Given the description of an element on the screen output the (x, y) to click on. 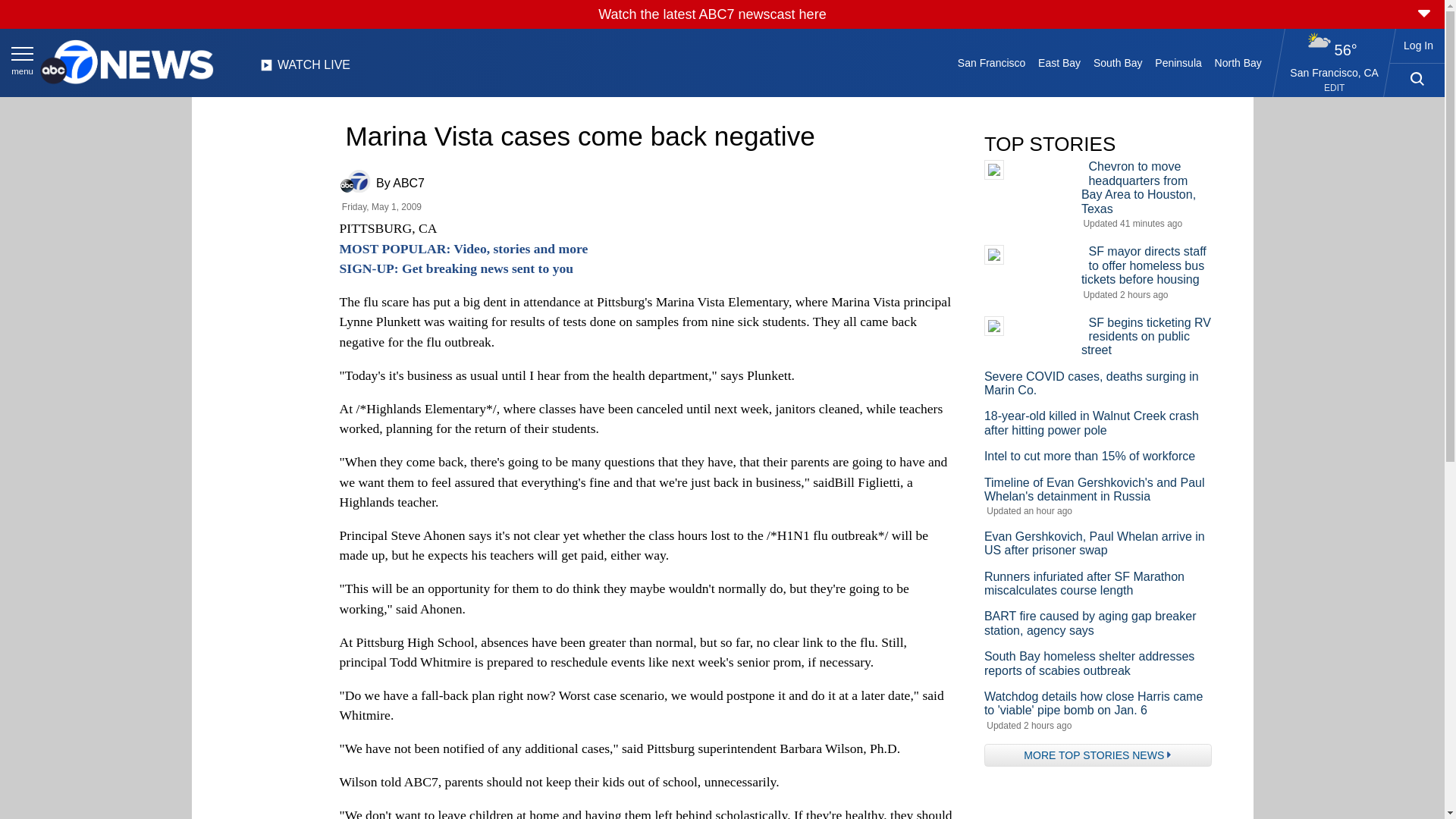
WATCH LIVE (305, 69)
San Francisco (990, 62)
EDIT (1333, 87)
North Bay (1238, 62)
Peninsula (1178, 62)
San Francisco, CA (1334, 72)
East Bay (1059, 62)
South Bay (1117, 62)
